Given the description of an element on the screen output the (x, y) to click on. 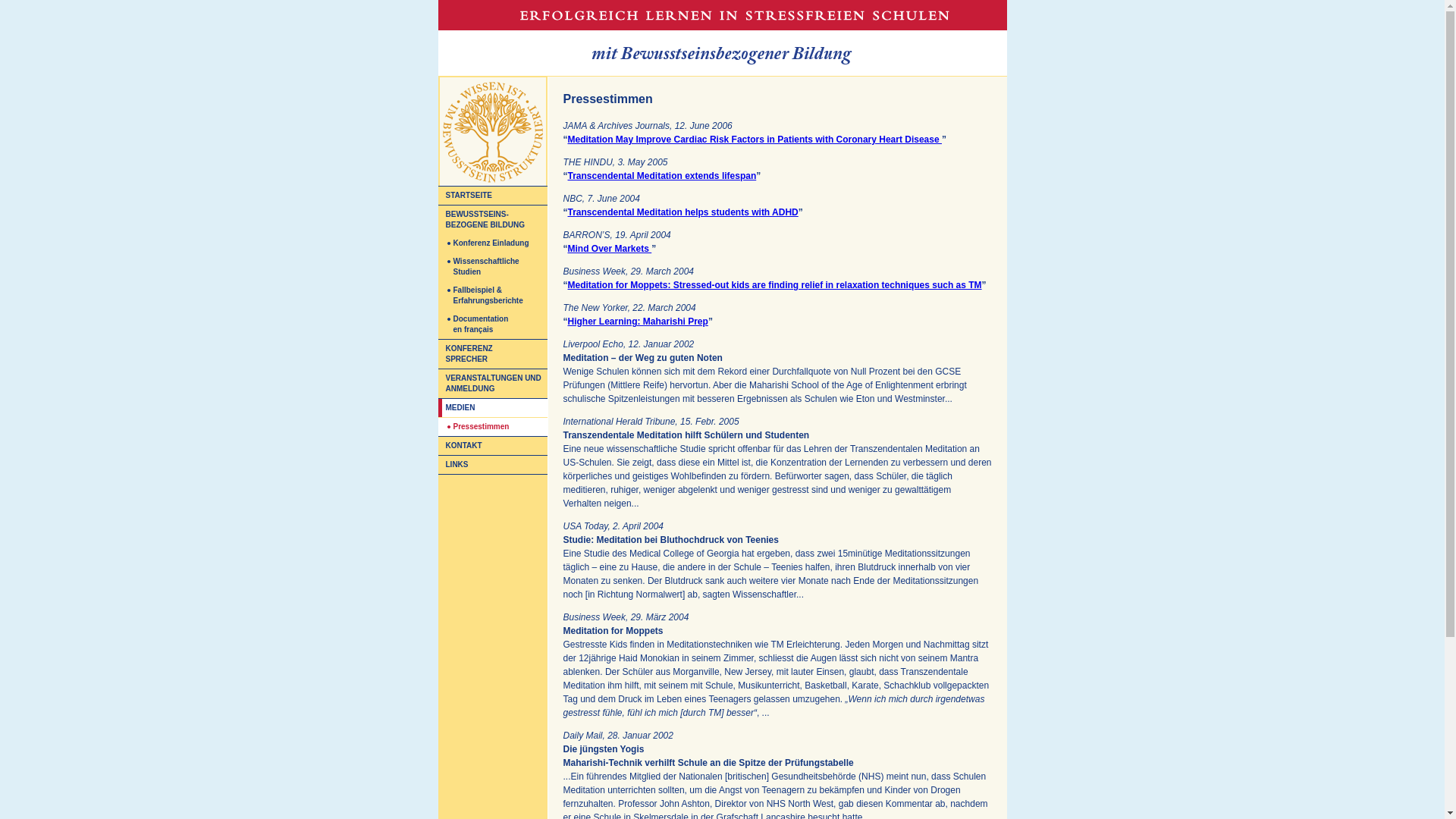
Fallbeispiel & Erfahrungsberichte Element type: text (492, 295)
KONTAKT Element type: text (492, 445)
LINKS Element type: text (492, 464)
Higher Learning: Maharishi Prep Element type: text (637, 321)
Konferenz Einladung Element type: text (492, 243)
Mind Over Markets Element type: text (609, 248)
KONFERENZ
SPRECHER Element type: text (492, 353)
Wissenschaftliche Studien Element type: text (492, 266)
Transcendental Meditation extends lifespan Element type: text (661, 175)
MEDIEN Element type: text (492, 407)
STARTSEITE Element type: text (492, 194)
Transcendental Meditation helps students with ADHD Element type: text (682, 212)
BEWUSSTSEINS-
BEZOGENE BILDUNG Element type: text (492, 219)
Pressestimmen Element type: text (492, 426)
VERANSTALTUNGEN UND ANMELDUNG Element type: text (492, 383)
